Given the description of an element on the screen output the (x, y) to click on. 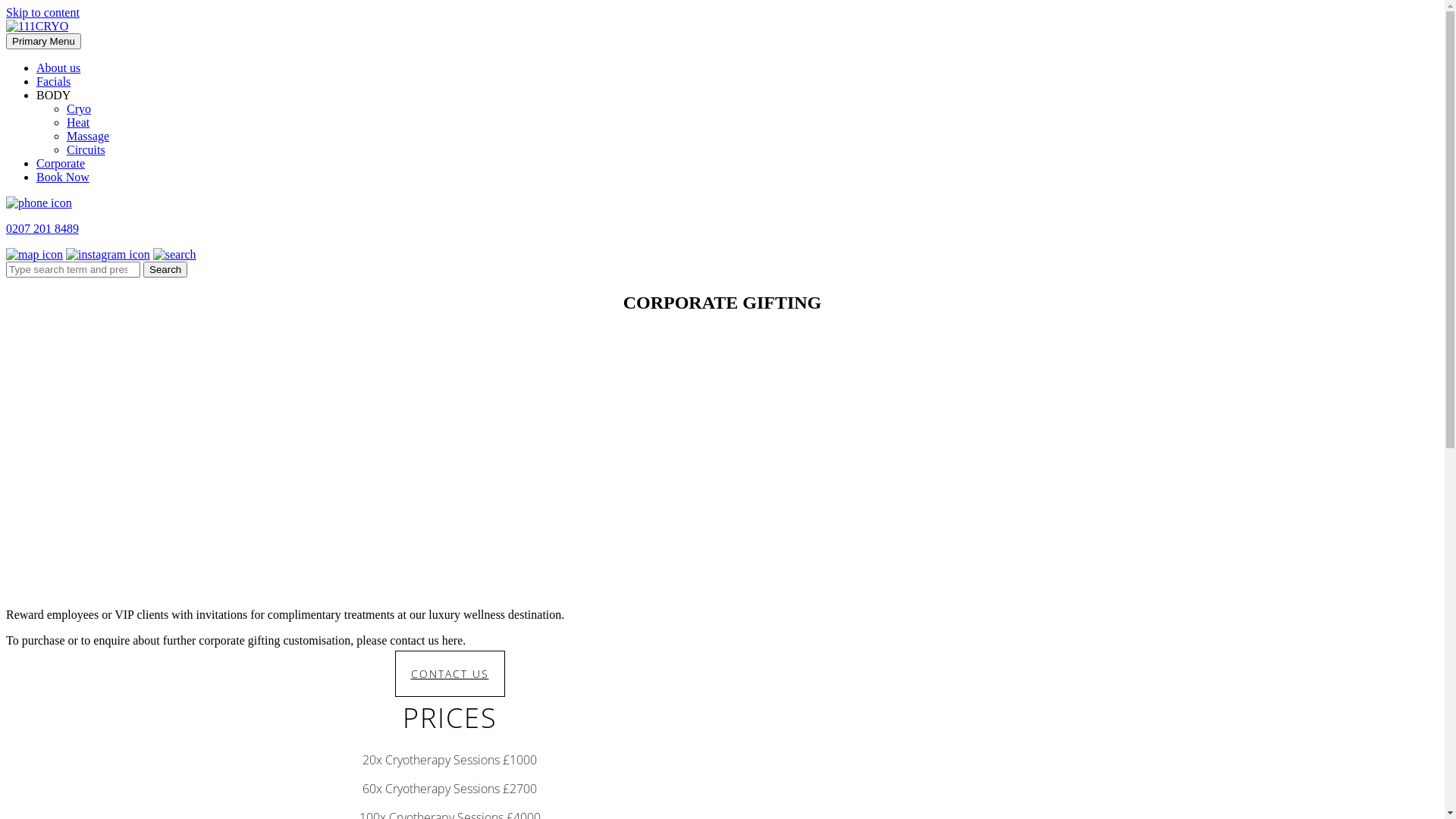
Circuits Element type: text (85, 149)
BODY Element type: text (53, 94)
Primary Menu Element type: text (43, 41)
Facials Element type: text (53, 81)
Skip to content Element type: text (42, 12)
About us Element type: text (58, 67)
0207 201 8489 Element type: text (722, 228)
Book Now Element type: text (62, 176)
Search Element type: text (165, 269)
Massage Element type: text (87, 135)
Heat Element type: text (77, 122)
CONTACT US Element type: text (449, 673)
Cryo Element type: text (78, 108)
Corporate Element type: text (60, 162)
